Given the description of an element on the screen output the (x, y) to click on. 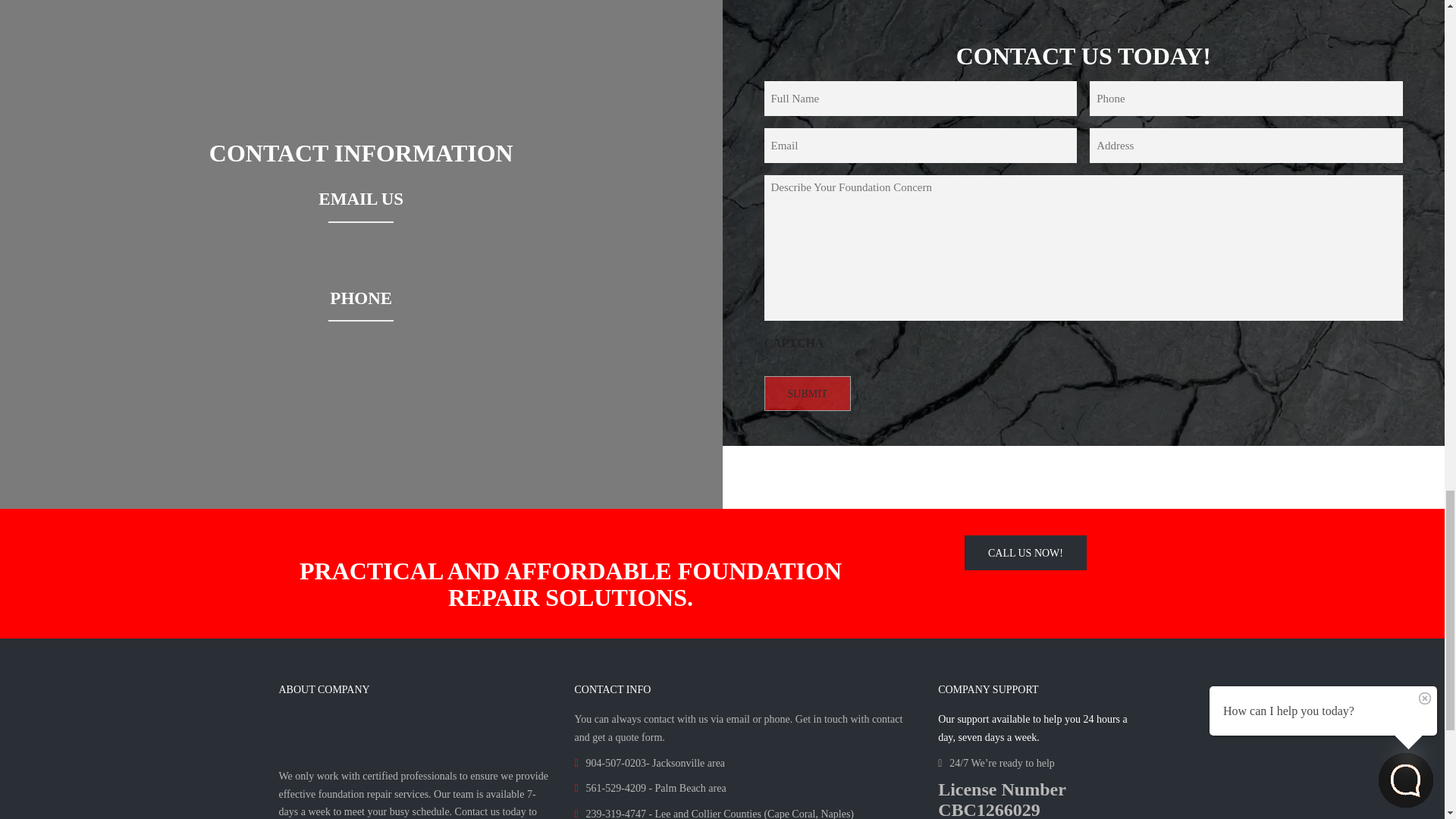
Submit (807, 393)
